Given the description of an element on the screen output the (x, y) to click on. 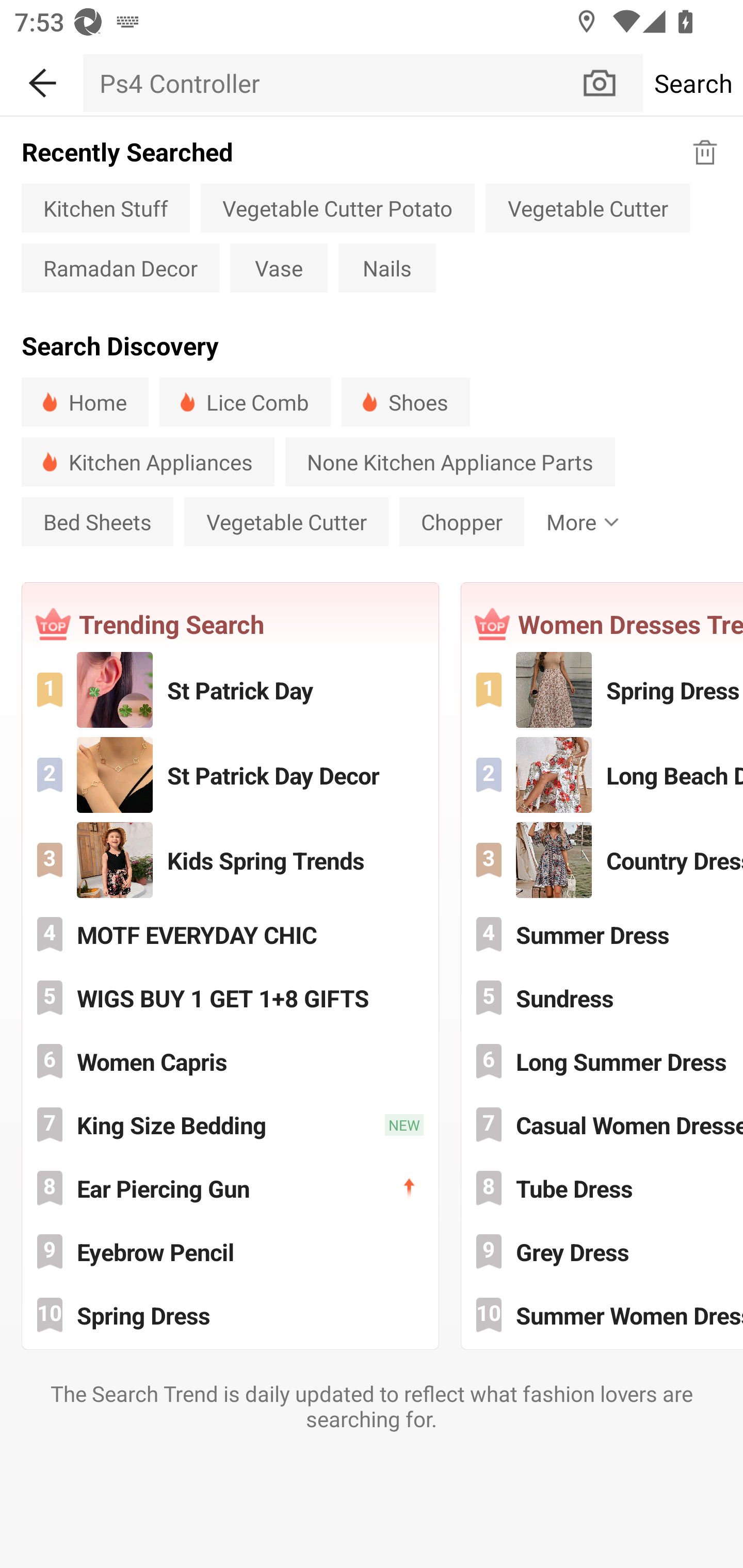
BACK (41, 79)
Ps4 Controller (331, 82)
Search (692, 82)
Kitchen Stuff (105, 207)
Vegetable Cutter Potato (337, 207)
Vegetable Cutter (587, 207)
Ramadan Decor (120, 268)
Vase (278, 268)
Nails (387, 268)
Home (84, 401)
Lice Comb (244, 401)
Shoes (405, 401)
Kitchen Appliances (147, 461)
None Kitchen Appliance Parts (450, 461)
Bed Sheets (97, 521)
Vegetable Cutter (286, 521)
Chopper (461, 521)
More Show More (578, 521)
St Patrick Day 1 St Patrick Day (230, 689)
Spring Dress 1 Spring Dress (602, 689)
St Patrick Day Decor 2 St Patrick Day Decor (230, 774)
Long Beach Dress 2 Long Beach Dress (602, 774)
Kids Spring Trends 3 Kids Spring Trends (230, 859)
Country Dress 3 Country Dress (602, 859)
MOTF EVERYDAY CHIC 4 MOTF EVERYDAY CHIC (230, 934)
Summer Dress 4 Summer Dress (602, 934)
Sundress 5 Sundress (602, 997)
Women Capris 6 Women Capris (230, 1061)
Long Summer Dress 6 Long Summer Dress (602, 1061)
King Size Bedding 7 King Size Bedding NEW (230, 1124)
Casual Women Dresses 7 Casual Women Dresses (602, 1124)
Ear Piercing Gun 8 Ear Piercing Gun (230, 1187)
Tube Dress 8 Tube Dress (602, 1187)
Eyebrow Pencil 9 Eyebrow Pencil (230, 1250)
Grey Dress 9 Grey Dress (602, 1250)
Spring Dress 10 Spring Dress (230, 1314)
Summer Women Dresses 10 Summer Women Dresses (602, 1314)
